Given the description of an element on the screen output the (x, y) to click on. 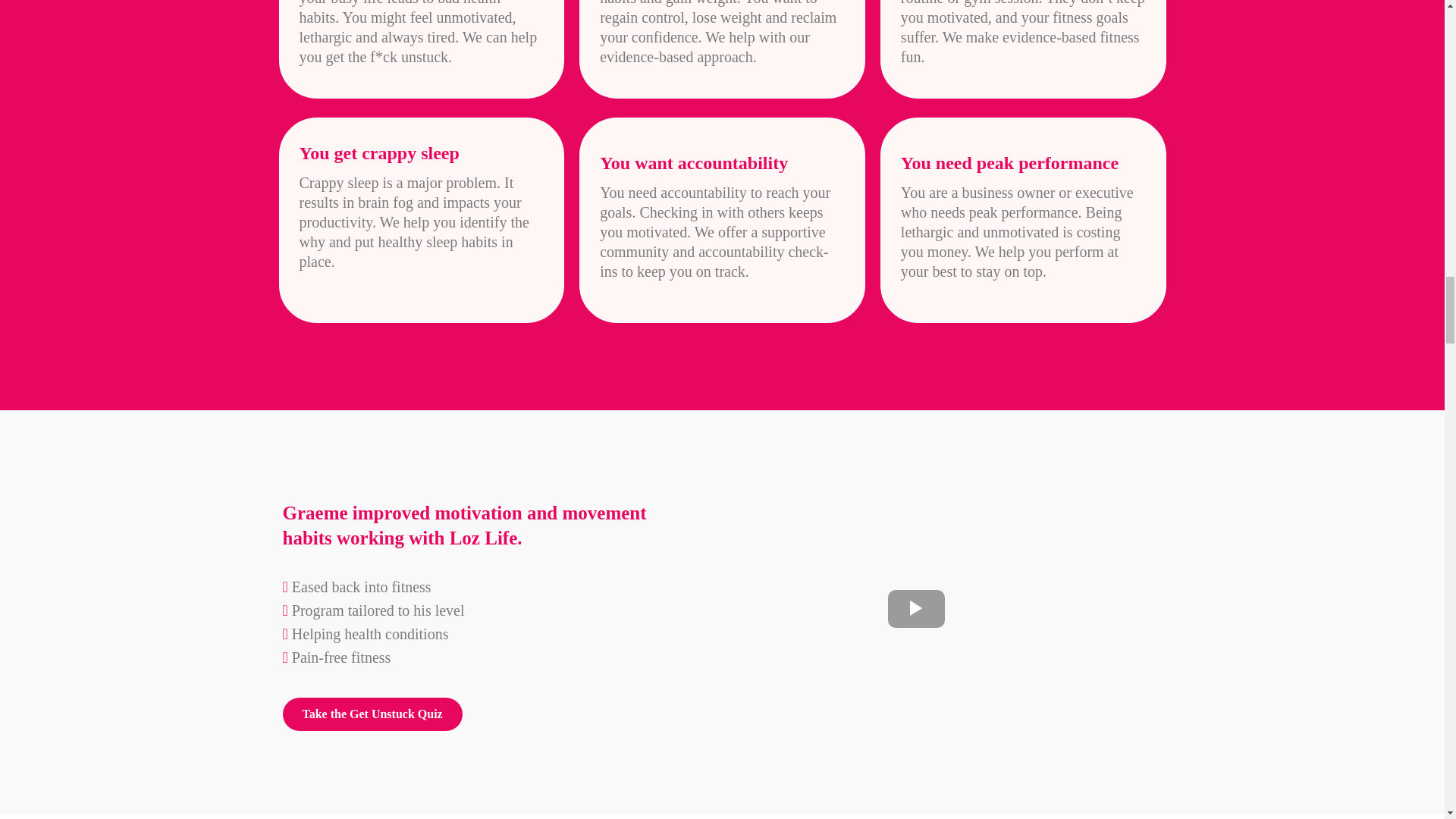
Take the Get Unstuck Quiz (371, 714)
